Given the description of an element on the screen output the (x, y) to click on. 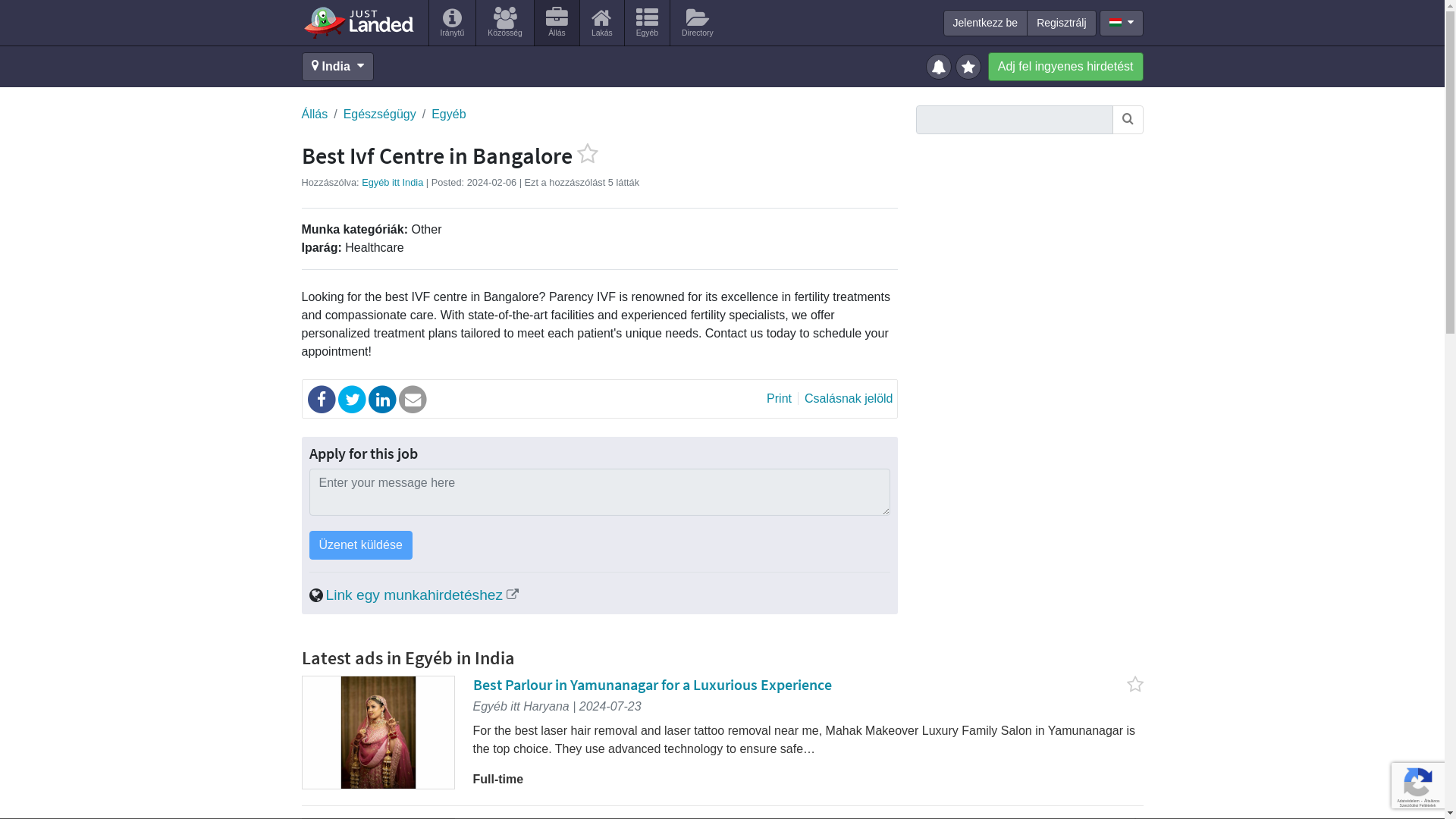
Share on twitter (352, 399)
Just Landed (357, 22)
India (337, 66)
Just Landed (357, 22)
Jelentkezz be (985, 22)
Kedvencek (970, 65)
Change location (337, 66)
Directory (697, 22)
Alerts (940, 65)
Hungarian (1114, 22)
